Given the description of an element on the screen output the (x, y) to click on. 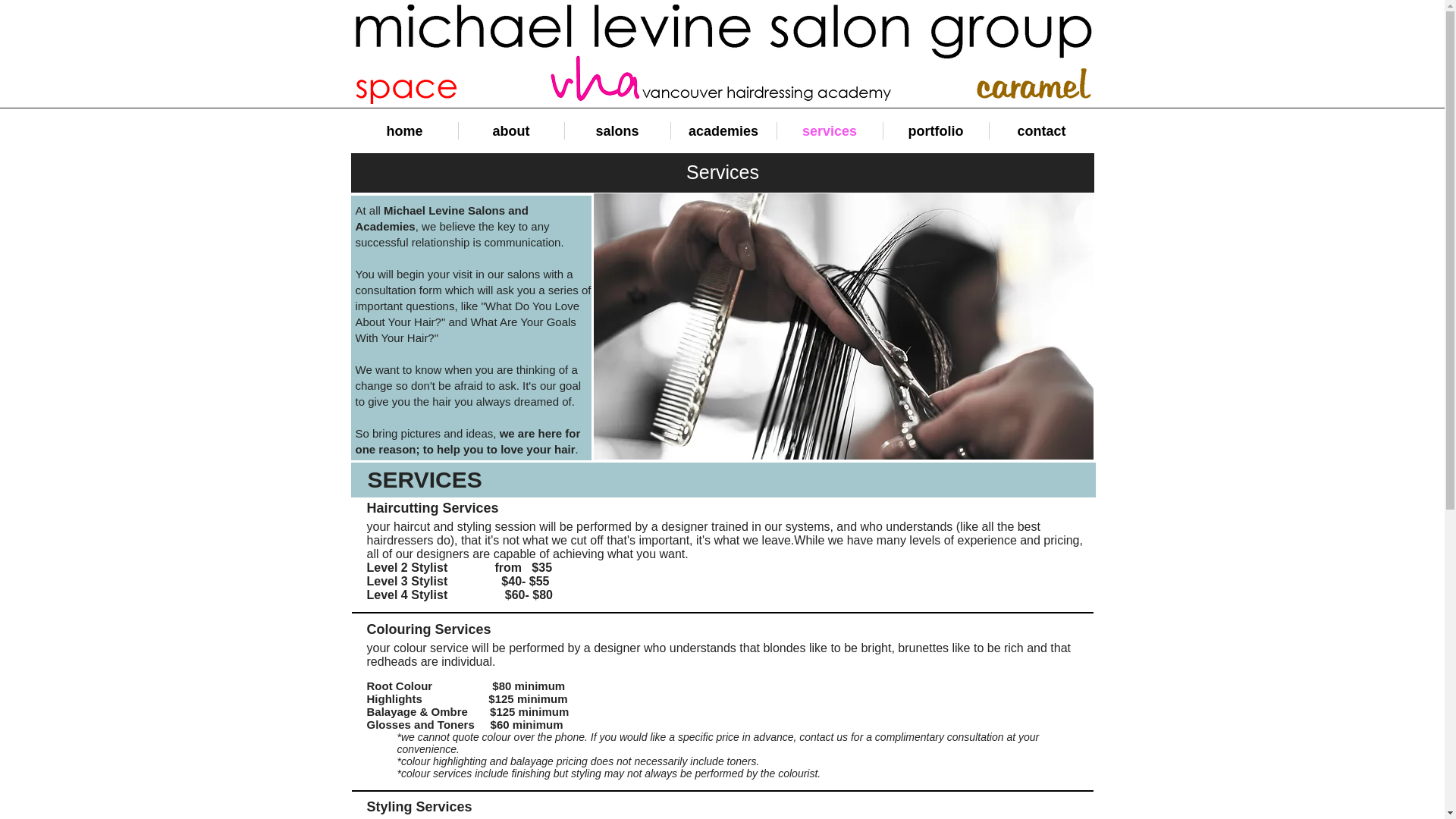
home (405, 130)
contact (1040, 130)
about (510, 130)
services (829, 130)
academies (722, 130)
Edit.jpg (842, 326)
portfolio (935, 130)
